Given the description of an element on the screen output the (x, y) to click on. 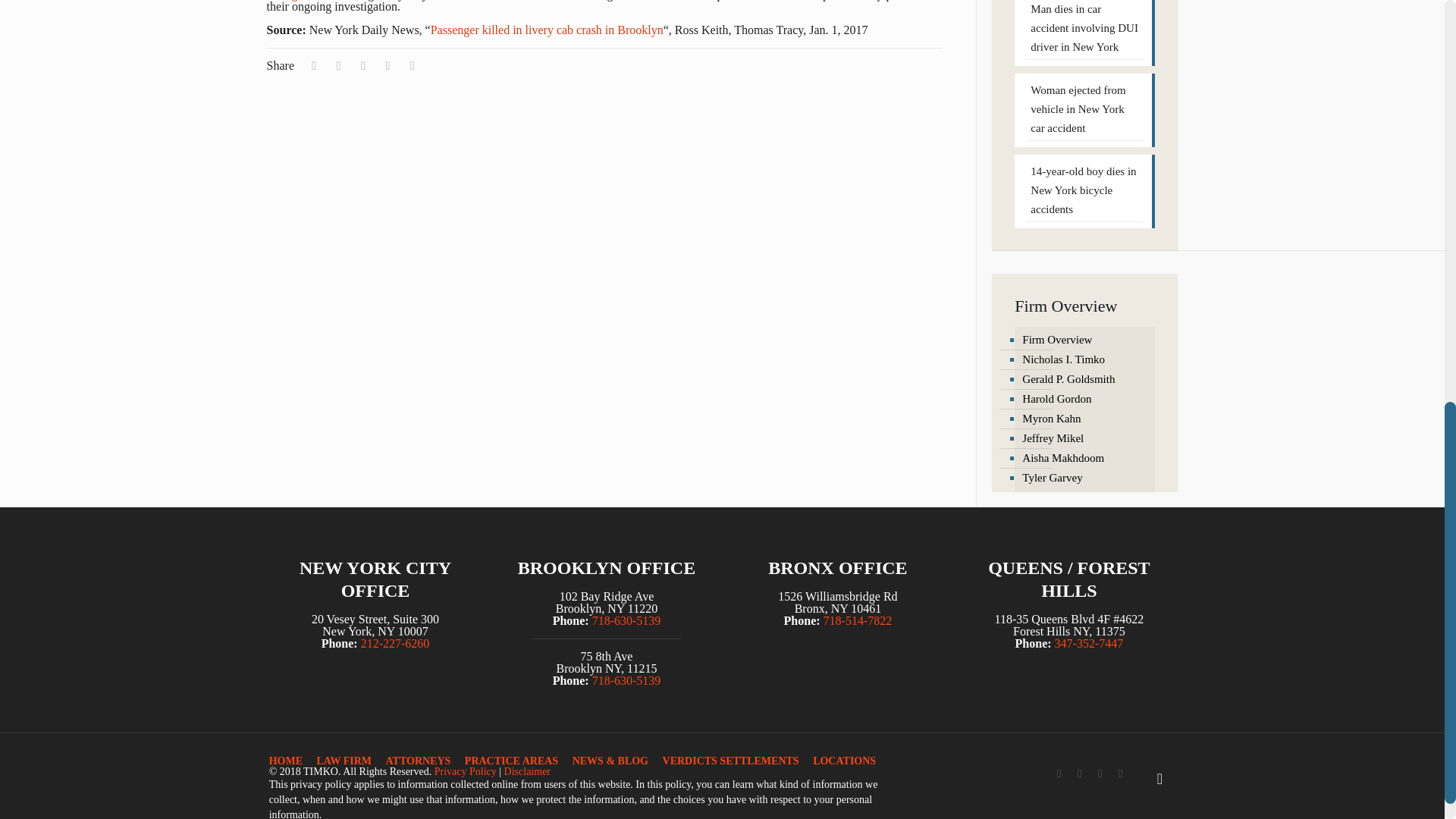
Twitter (1079, 773)
YouTube (1100, 773)
Facebook (1059, 773)
Instagram (1120, 773)
